Given the description of an element on the screen output the (x, y) to click on. 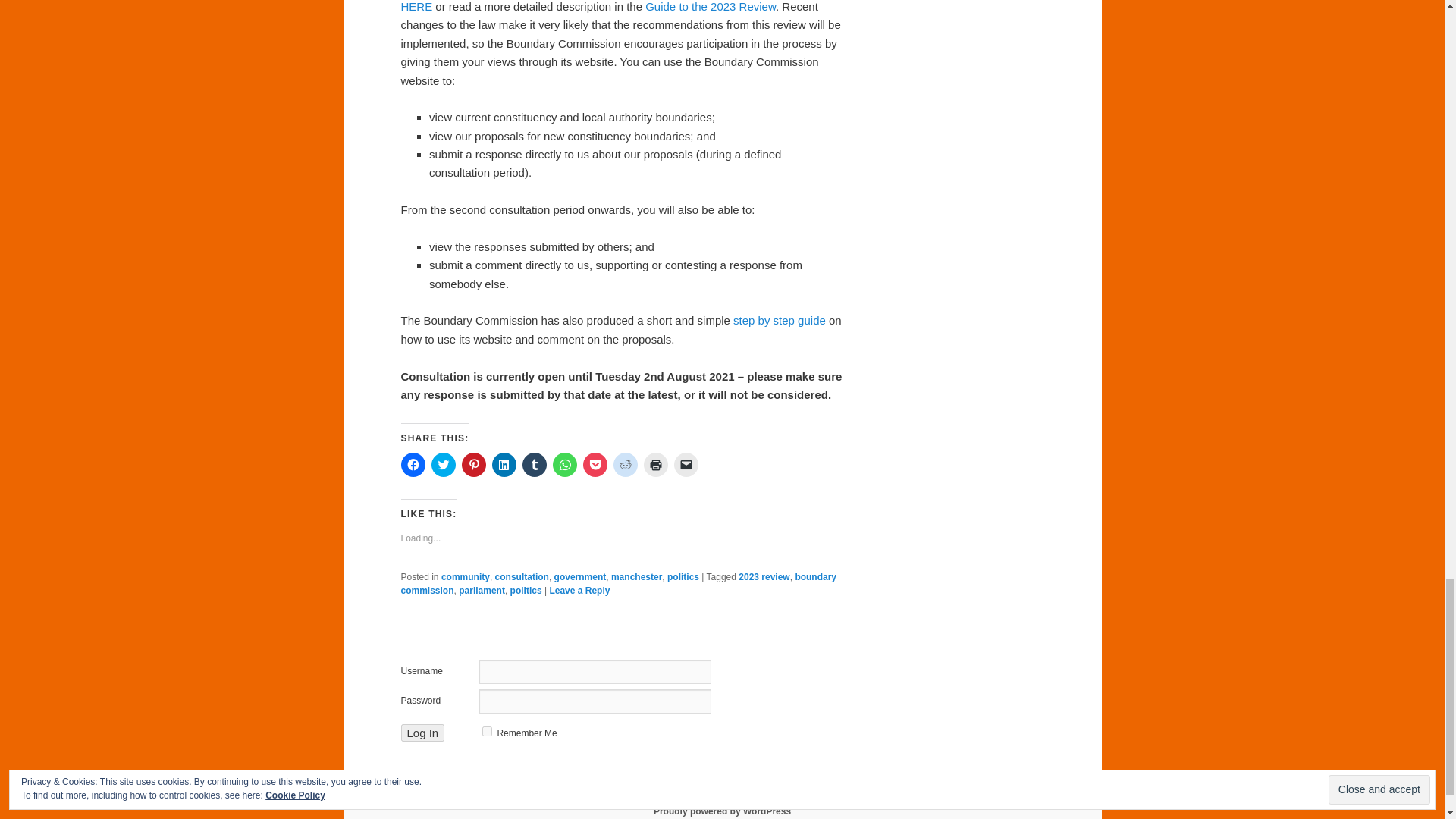
Click to share on Pinterest (472, 464)
forever (486, 731)
Click to share on Twitter (442, 464)
Log In (422, 732)
Click to share on Tumblr (533, 464)
Click to share on Facebook (412, 464)
Click to share on LinkedIn (503, 464)
